Given the description of an element on the screen output the (x, y) to click on. 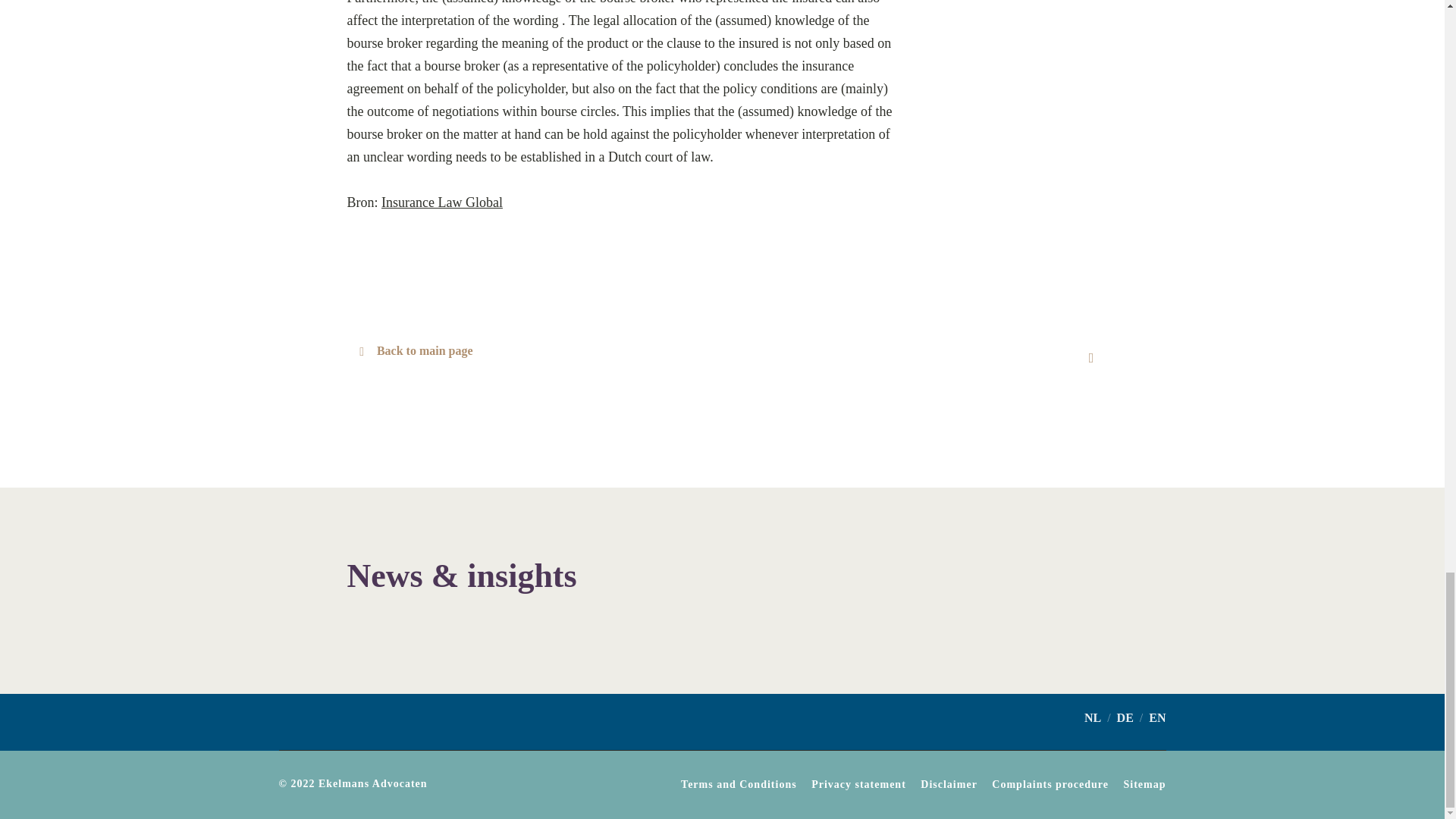
Back to main page (410, 356)
News (410, 356)
Insurance Law Global (441, 201)
Unclear clauses in a bourse policy (1090, 355)
